Given the description of an element on the screen output the (x, y) to click on. 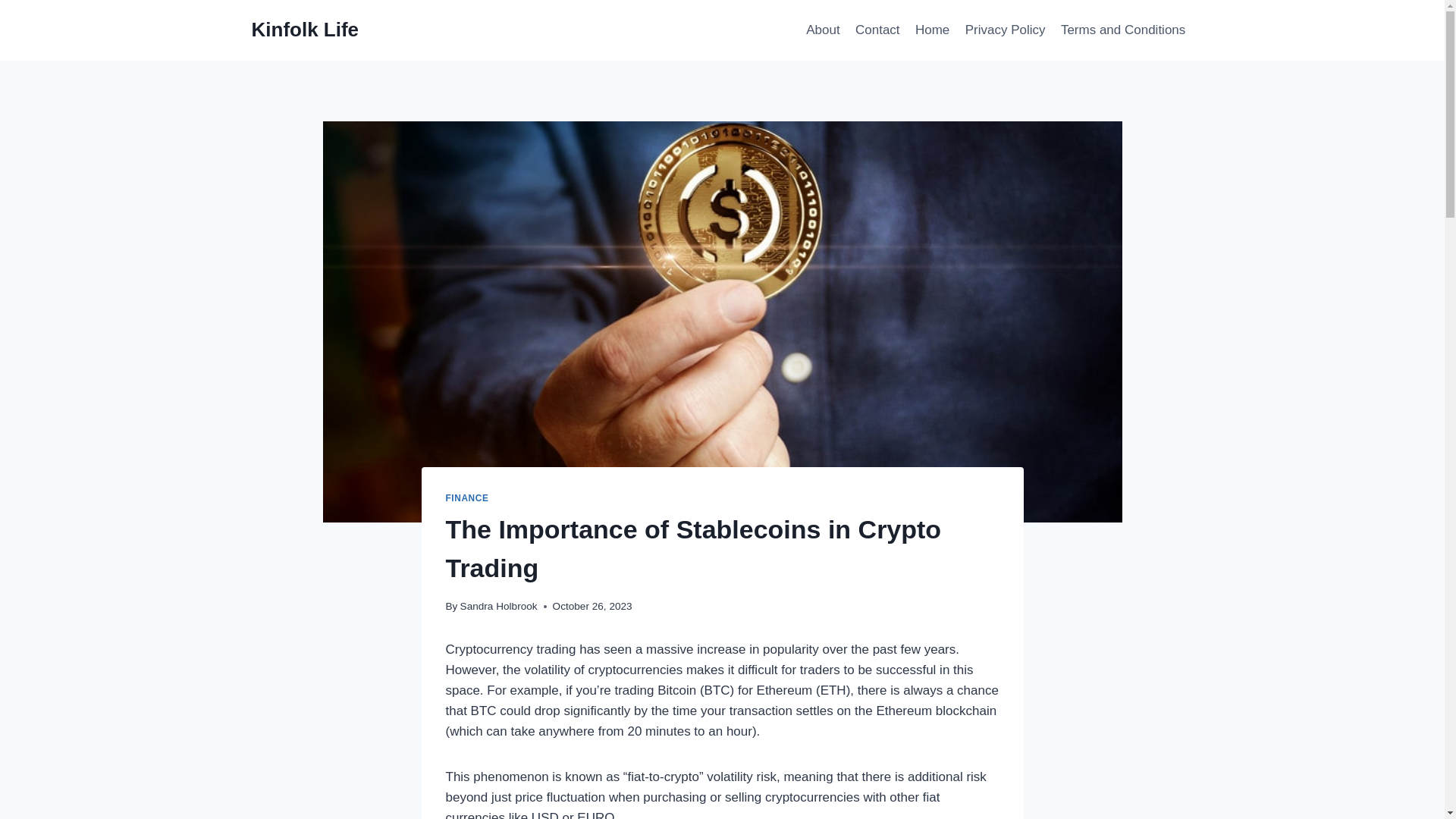
Home (932, 30)
Sandra Holbrook (498, 605)
Kinfolk Life (305, 29)
Contact (877, 30)
Privacy Policy (1005, 30)
Home (932, 30)
Privacy Policy (1005, 30)
FINANCE (467, 498)
Terms and Conditions (1122, 30)
About (822, 30)
About (822, 30)
Terms and Conditions (1122, 30)
Finance (467, 498)
Contact (877, 30)
Sandra Holbrook (498, 605)
